Given the description of an element on the screen output the (x, y) to click on. 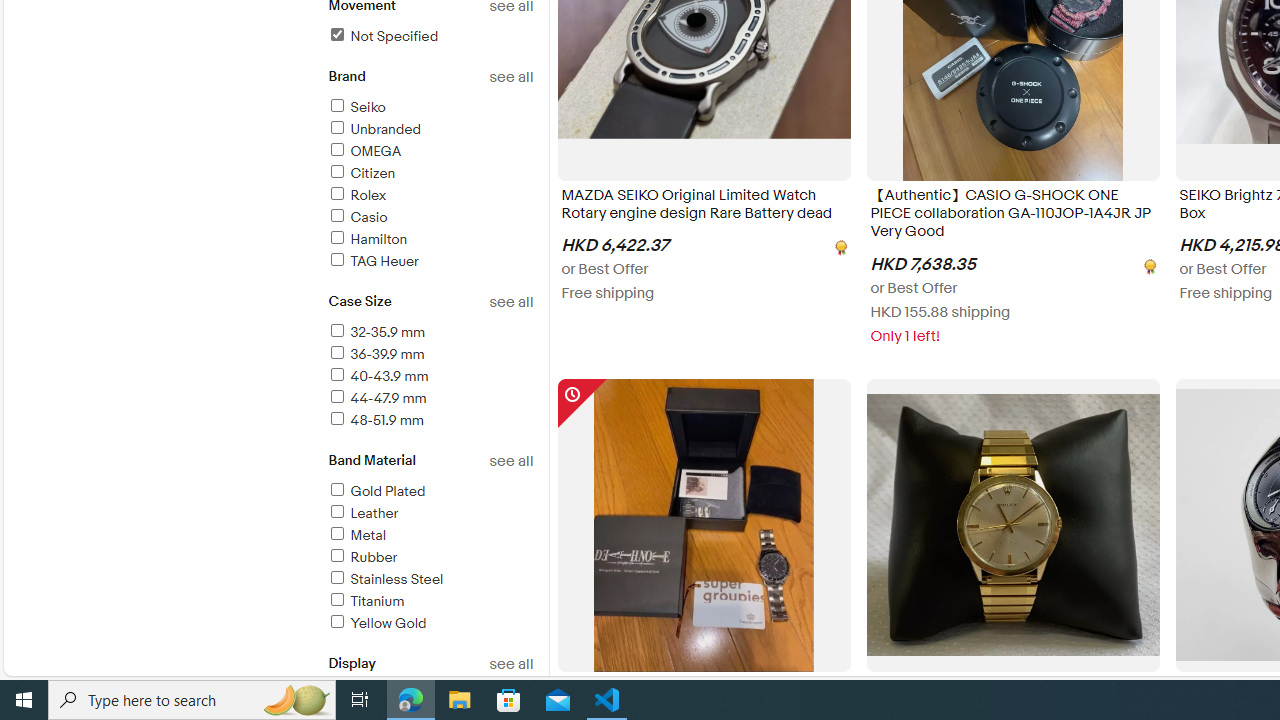
Not SpecifiedFilter Applied (430, 37)
44-47.9 mm (430, 399)
Rubber (362, 556)
[object Undefined] (1147, 264)
See all brand refinements (510, 77)
Hamilton (367, 239)
OMEGA (363, 151)
36-39.9 mm (430, 355)
32-35.9 mm (430, 333)
Rubber (430, 558)
TAG Heuer (372, 261)
Titanium (365, 601)
Unbranded (430, 129)
